Given the description of an element on the screen output the (x, y) to click on. 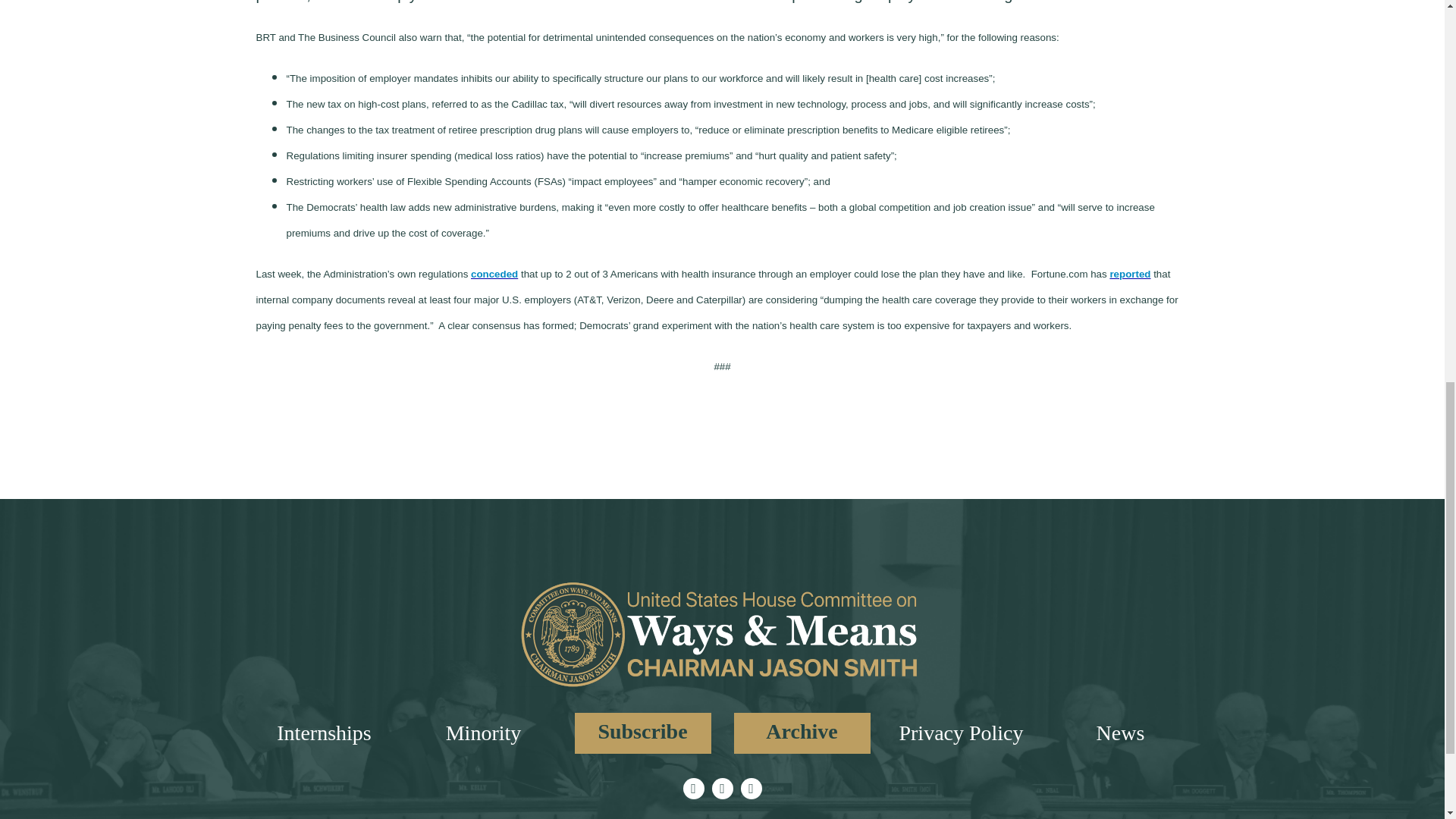
Internships (323, 733)
conceded (494, 274)
Subscribe (643, 732)
Minority (483, 733)
reported (1129, 274)
Twitter (692, 788)
Youtube (750, 788)
Archive (801, 732)
Privacy Policy (960, 733)
News (1120, 733)
Instagram (721, 788)
